Given the description of an element on the screen output the (x, y) to click on. 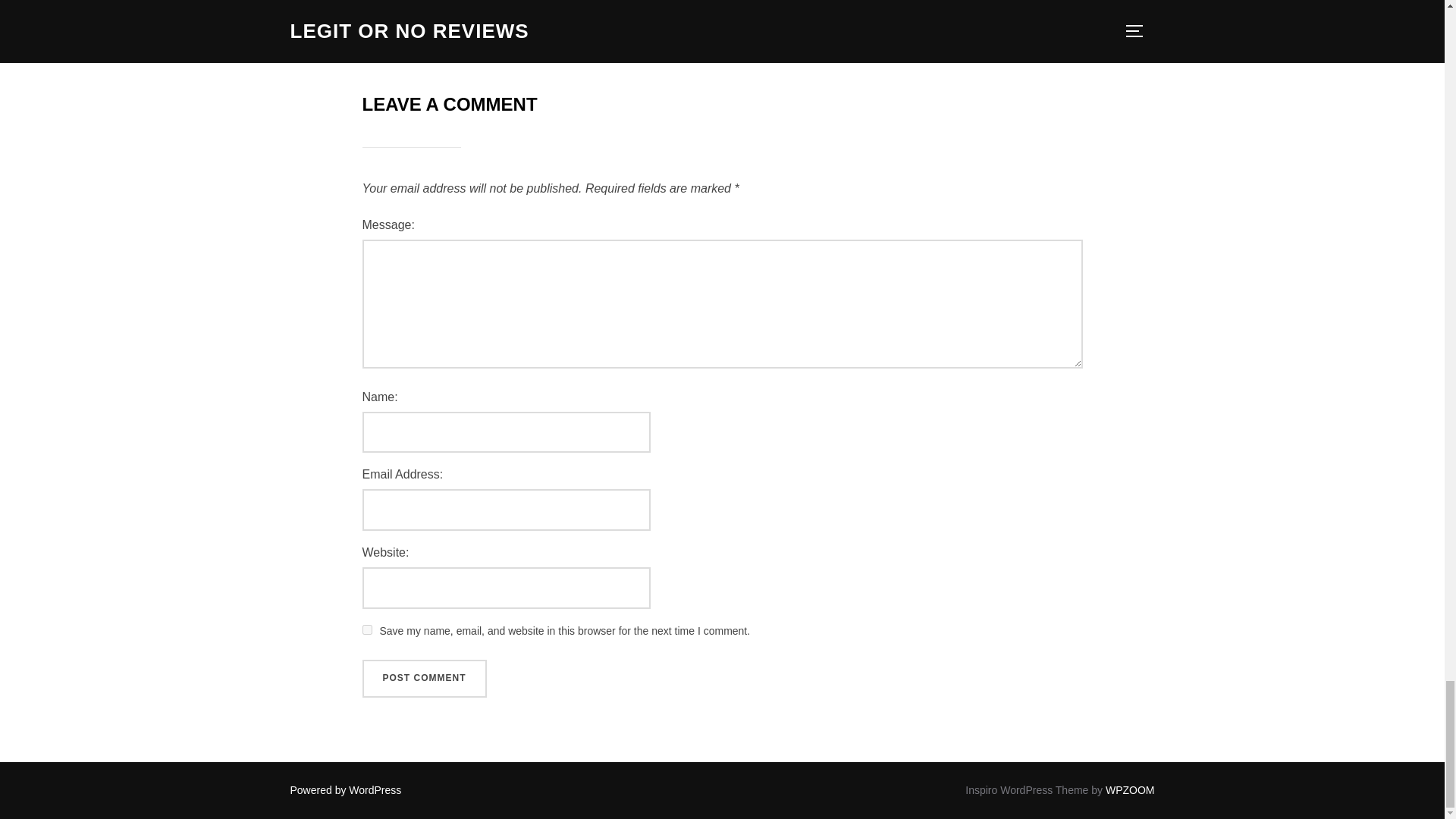
Powered by WordPress (345, 789)
Post Comment (424, 678)
Post Comment (424, 678)
yes (367, 629)
WPZOOM (1129, 789)
